Given the description of an element on the screen output the (x, y) to click on. 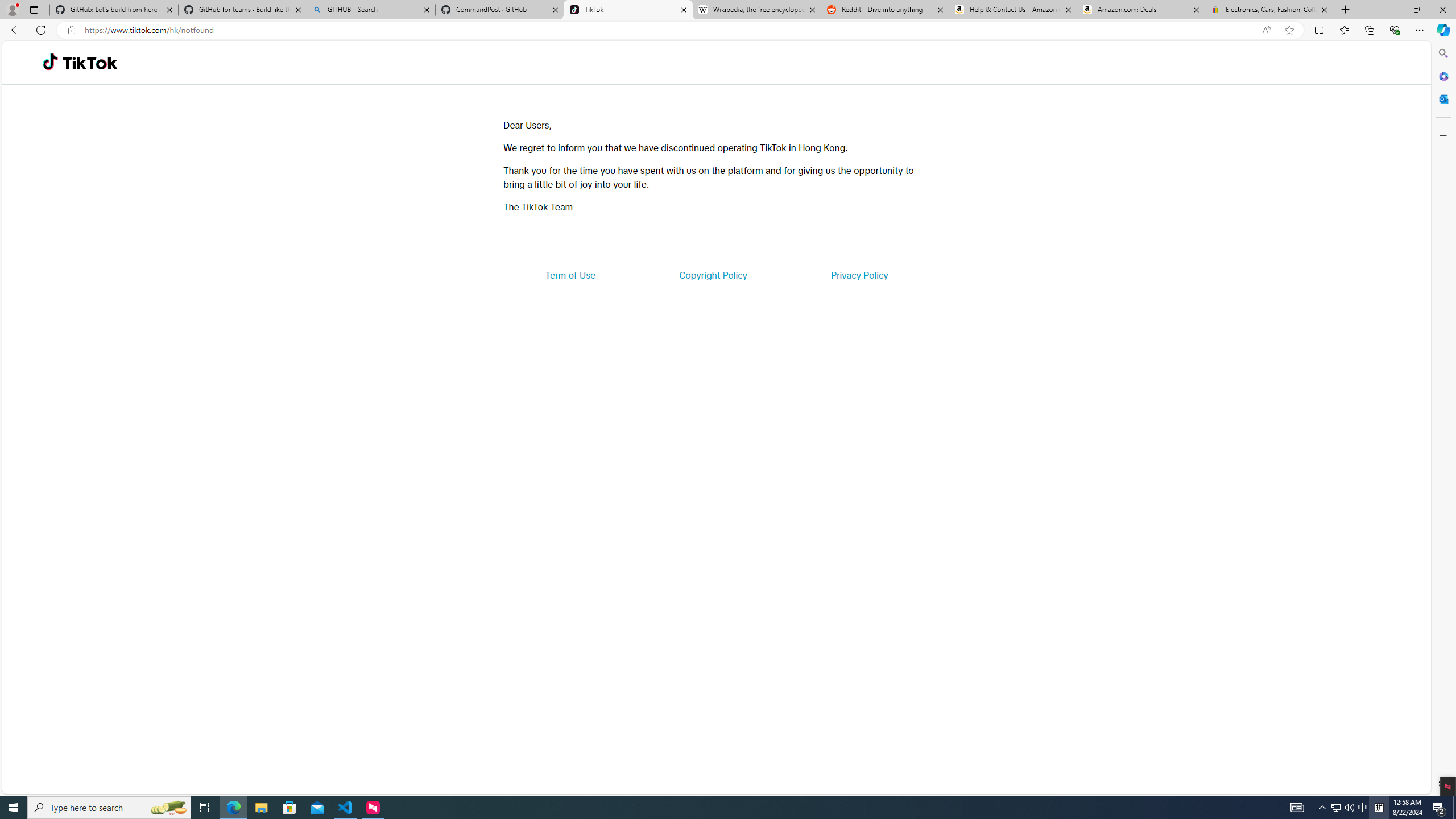
Reddit - Dive into anything (884, 9)
TikTok (628, 9)
